Given the description of an element on the screen output the (x, y) to click on. 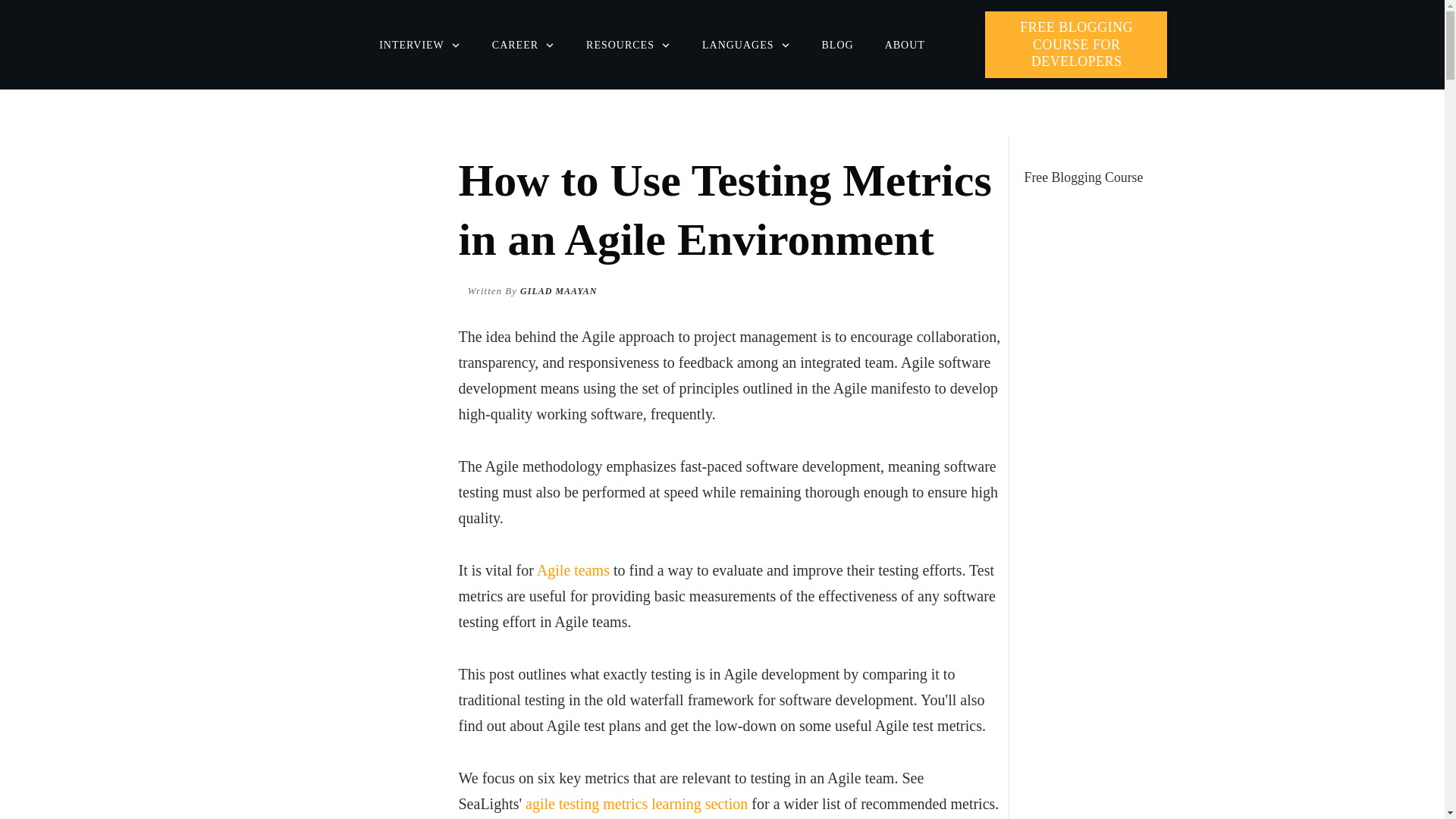
ABOUT (904, 45)
Gilad Maayan (557, 290)
GILAD MAAYAN (557, 290)
BLOG (837, 45)
CAREER (523, 45)
Agile teams (573, 569)
LANGUAGES (745, 45)
RESOURCES (628, 45)
FREE BLOGGING COURSE FOR DEVELOPERS (1076, 44)
INTERVIEW (419, 45)
